Given the description of an element on the screen output the (x, y) to click on. 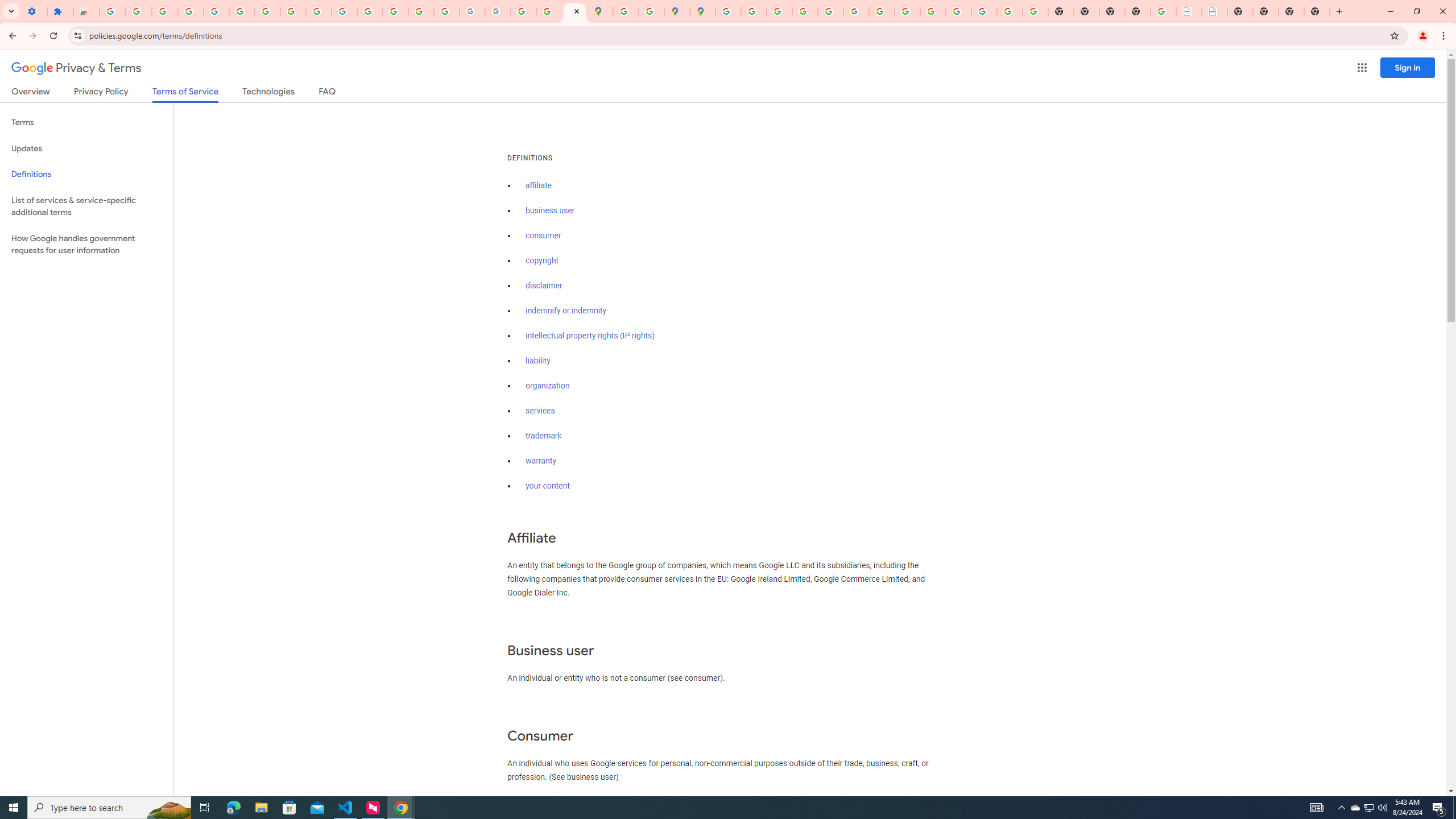
liability (537, 361)
disclaimer (543, 285)
Sign in - Google Accounts (727, 11)
Reviews: Helix Fruit Jump Arcade Game (86, 11)
Google Account (293, 11)
